Given the description of an element on the screen output the (x, y) to click on. 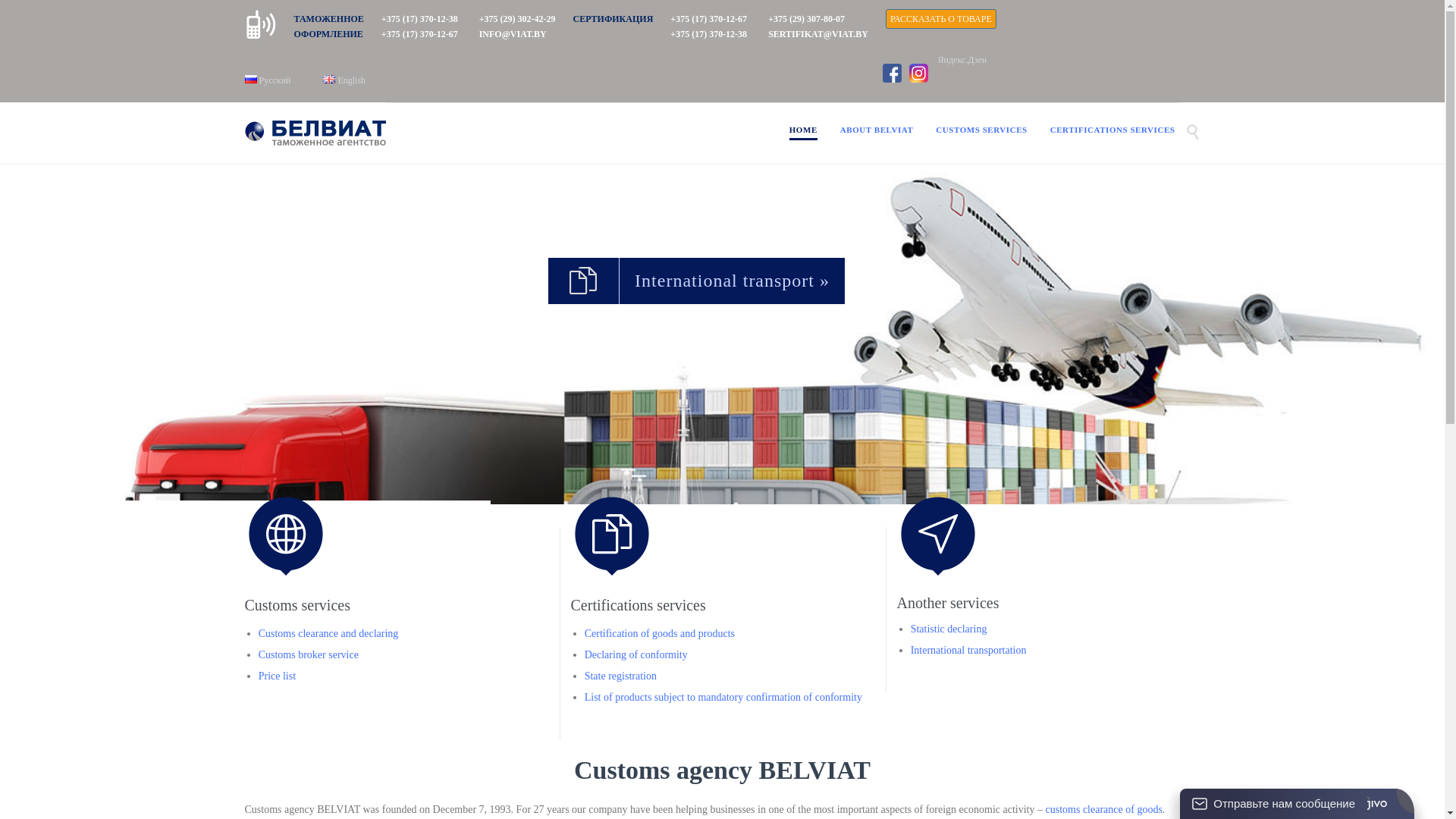
English Element type: hover (329, 79)
State registration Element type: text (620, 675)
viat.by Element type: hover (314, 132)
Customs services Element type: text (296, 604)
+375 (29) 307-80-07 Element type: text (806, 18)
Statistic declaring Element type: text (948, 628)
+375 (17) 370-12-67 Element type: text (708, 18)
+375 (29) 302-42-29 Element type: text (517, 18)
Declaring of conformity Element type: text (635, 654)
+375 (17) 370-12-67 Element type: text (419, 33)
 English Element type: text (344, 80)
Customs broker service Element type: text (308, 654)
International transportation Element type: text (968, 649)
customs clearance of goods Element type: text (1102, 809)
+375 (17) 370-12-38 Element type: text (708, 33)
Skip to content Element type: text (1186, 120)
Price list Element type: text (276, 675)
ABOUT BELVIAT Element type: text (876, 131)
CUSTOMS SERVICES Element type: text (980, 131)
Certification of goods and products Element type: text (659, 633)
Customs clearance and declaring Element type: text (328, 633)
INFO@VIAT.BY Element type: text (512, 33)
SERTIFIKAT@VIAT.BY Element type: text (818, 33)
CERTIFICATIONS SERVICES Element type: text (1112, 131)
HOME Element type: text (803, 131)
+375 (17) 370-12-38 Element type: text (419, 18)
Certifications services Element type: text (637, 604)
